Given the description of an element on the screen output the (x, y) to click on. 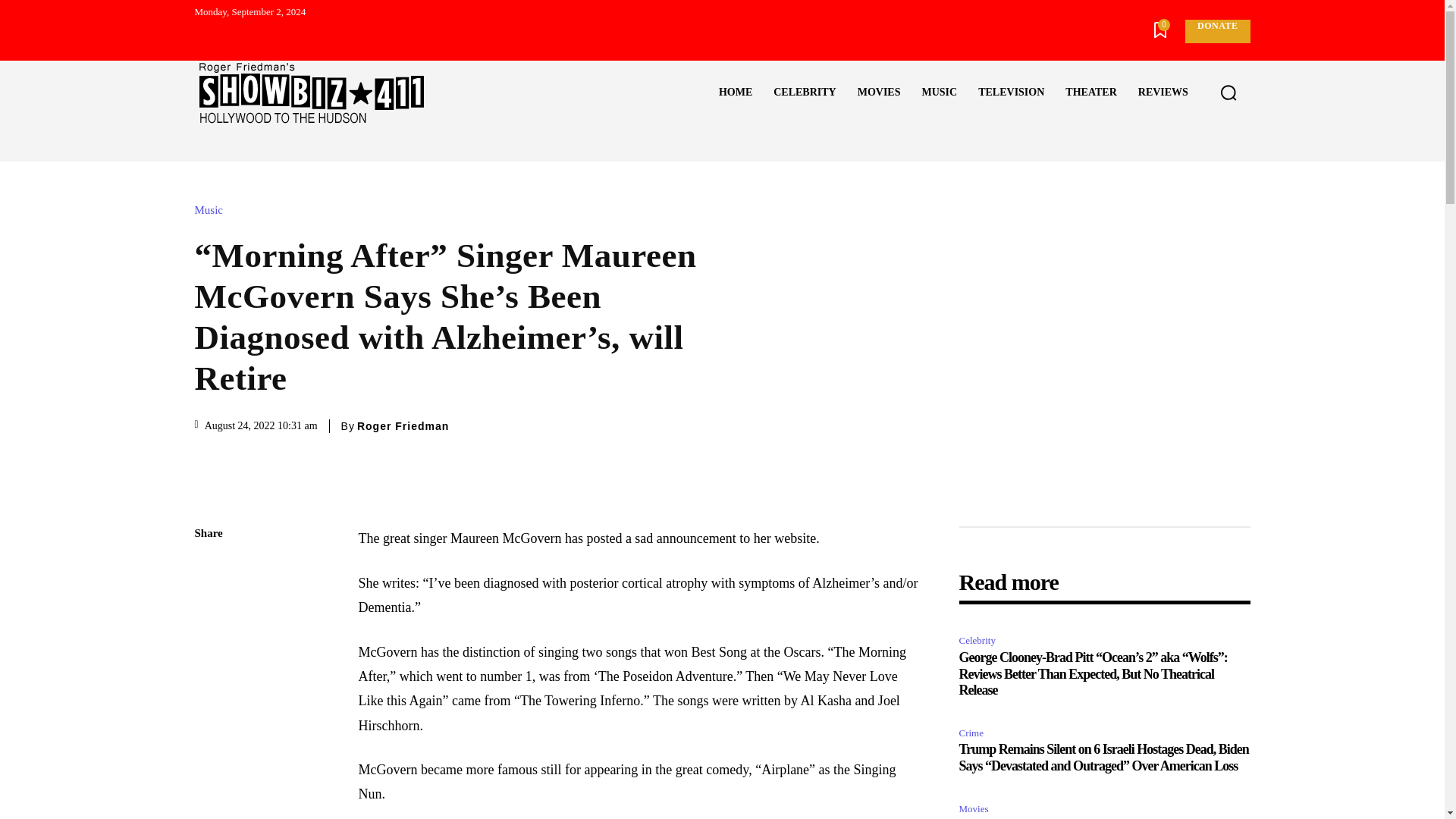
DONATE (1217, 31)
Music (211, 210)
HOME (734, 92)
REVIEWS (1162, 92)
Donate (1217, 31)
THEATER (1090, 92)
MOVIES (879, 92)
CELEBRITY (803, 92)
MUSIC (939, 92)
TELEVISION (1011, 92)
